Given the description of an element on the screen output the (x, y) to click on. 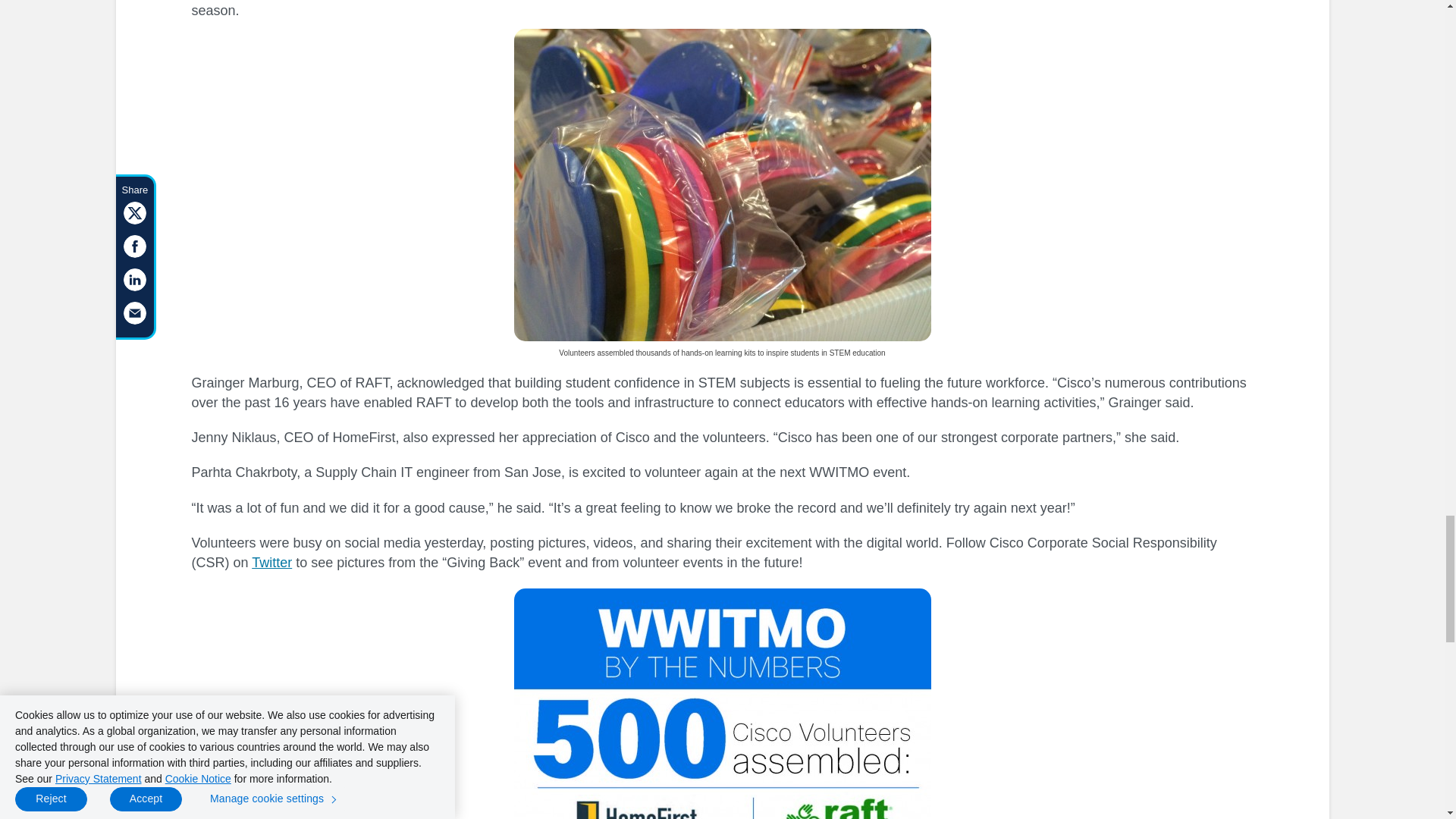
Twitter (271, 562)
